Given the description of an element on the screen output the (x, y) to click on. 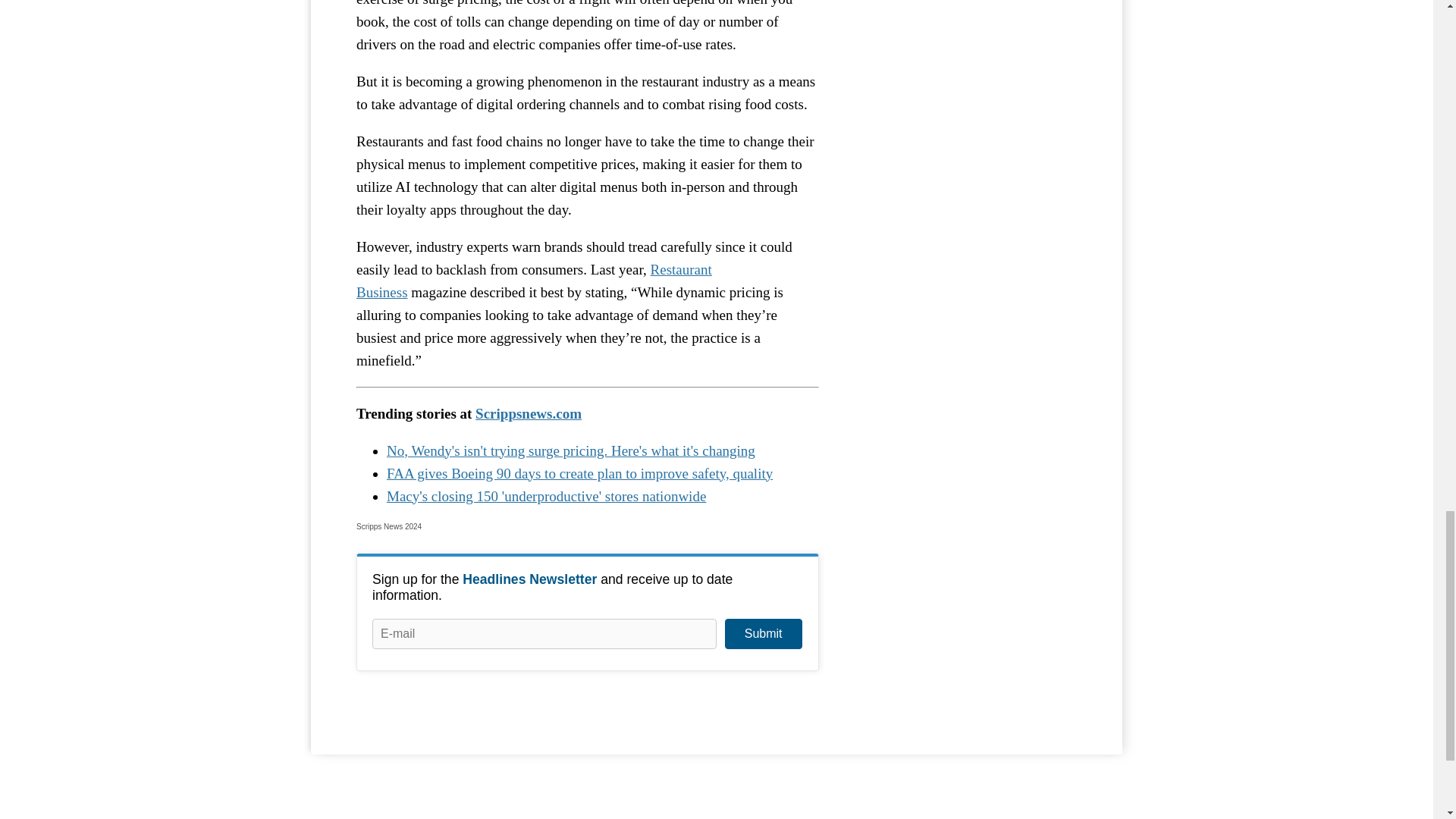
Submit (763, 634)
